Given the description of an element on the screen output the (x, y) to click on. 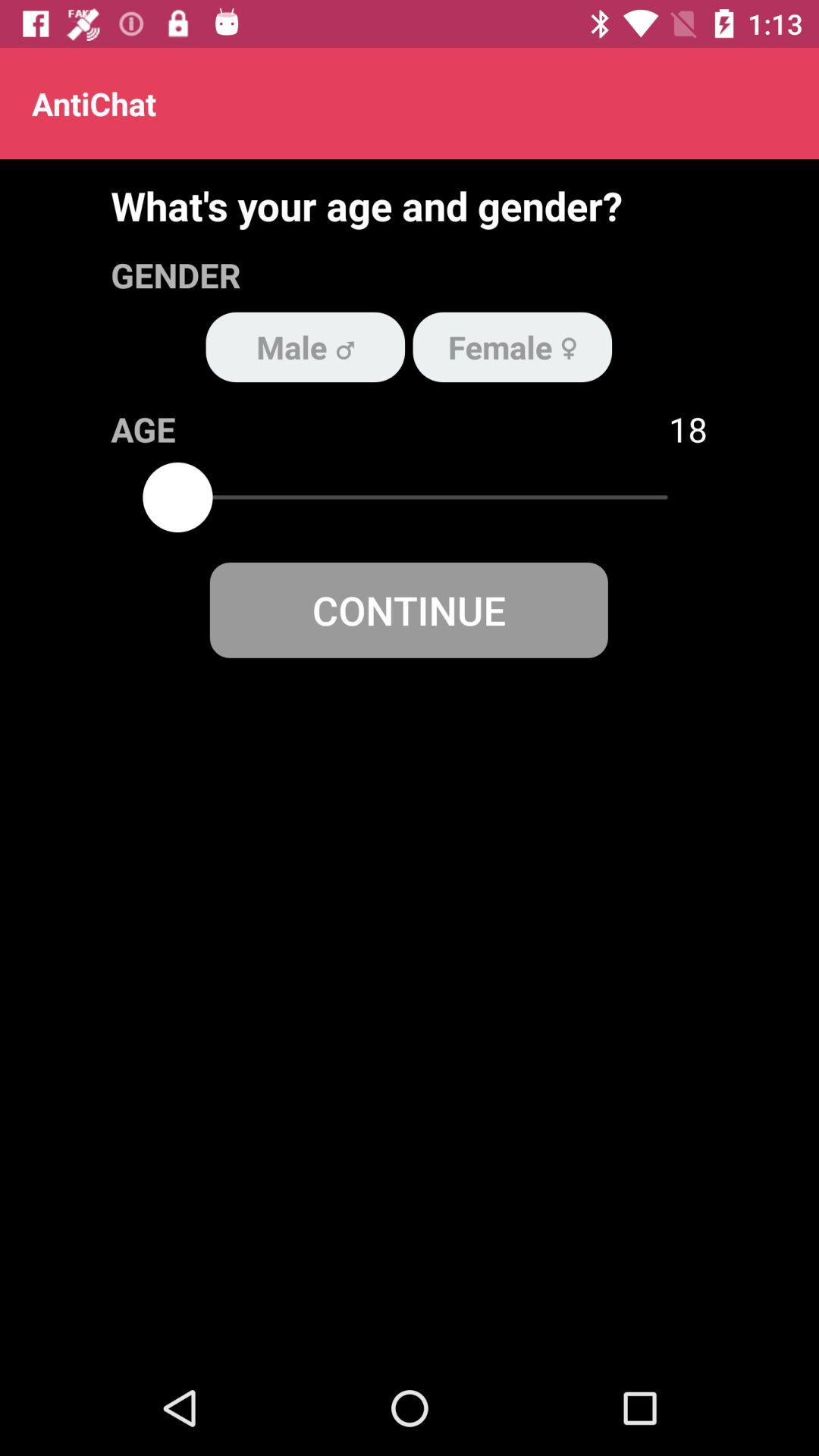
click the continue item (408, 610)
